Given the description of an element on the screen output the (x, y) to click on. 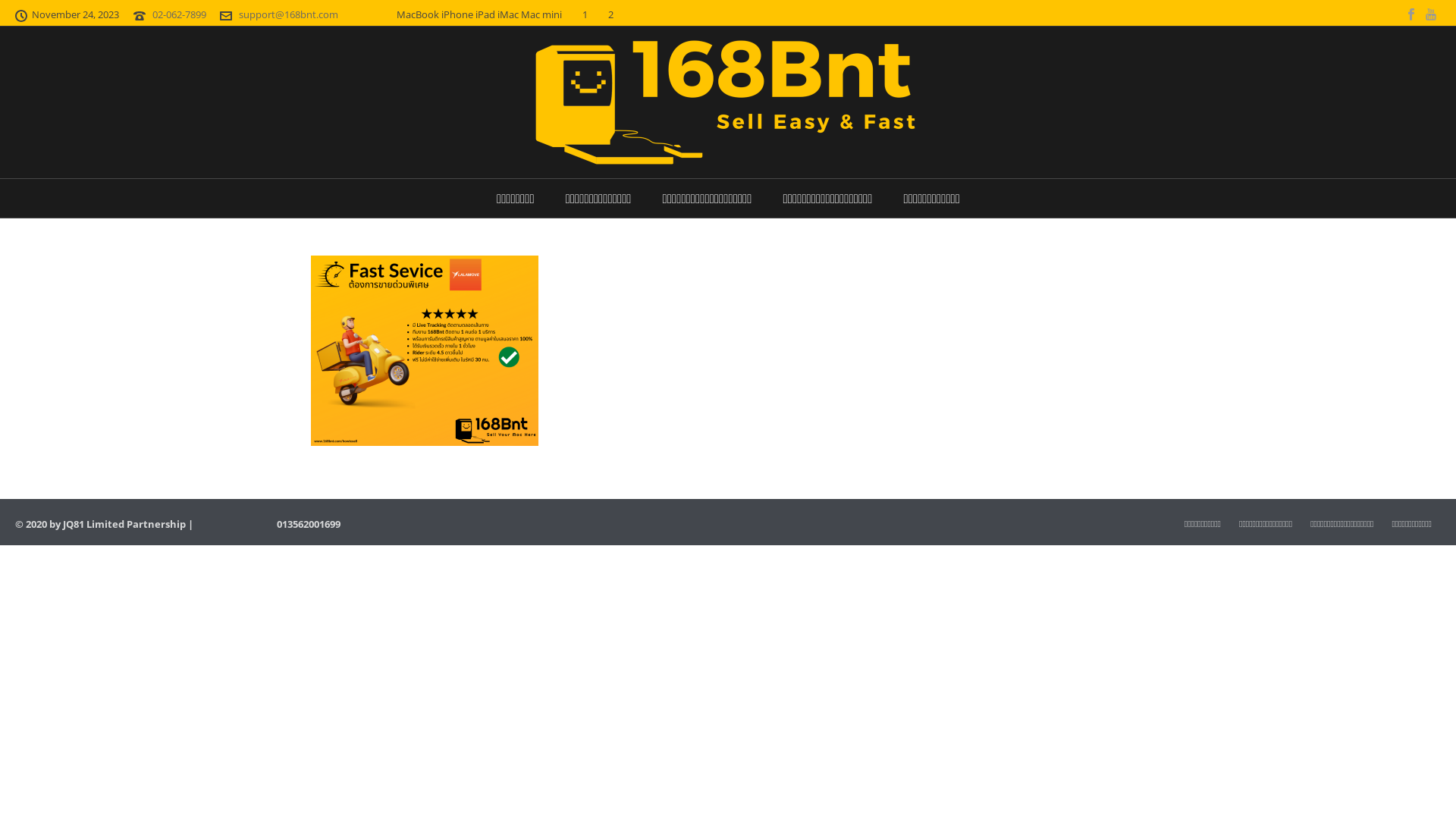
support@168bnt.com Element type: text (288, 14)
168bnt Thailand Element type: hover (727, 102)
02-062-7899 Element type: text (179, 14)
